Given the description of an element on the screen output the (x, y) to click on. 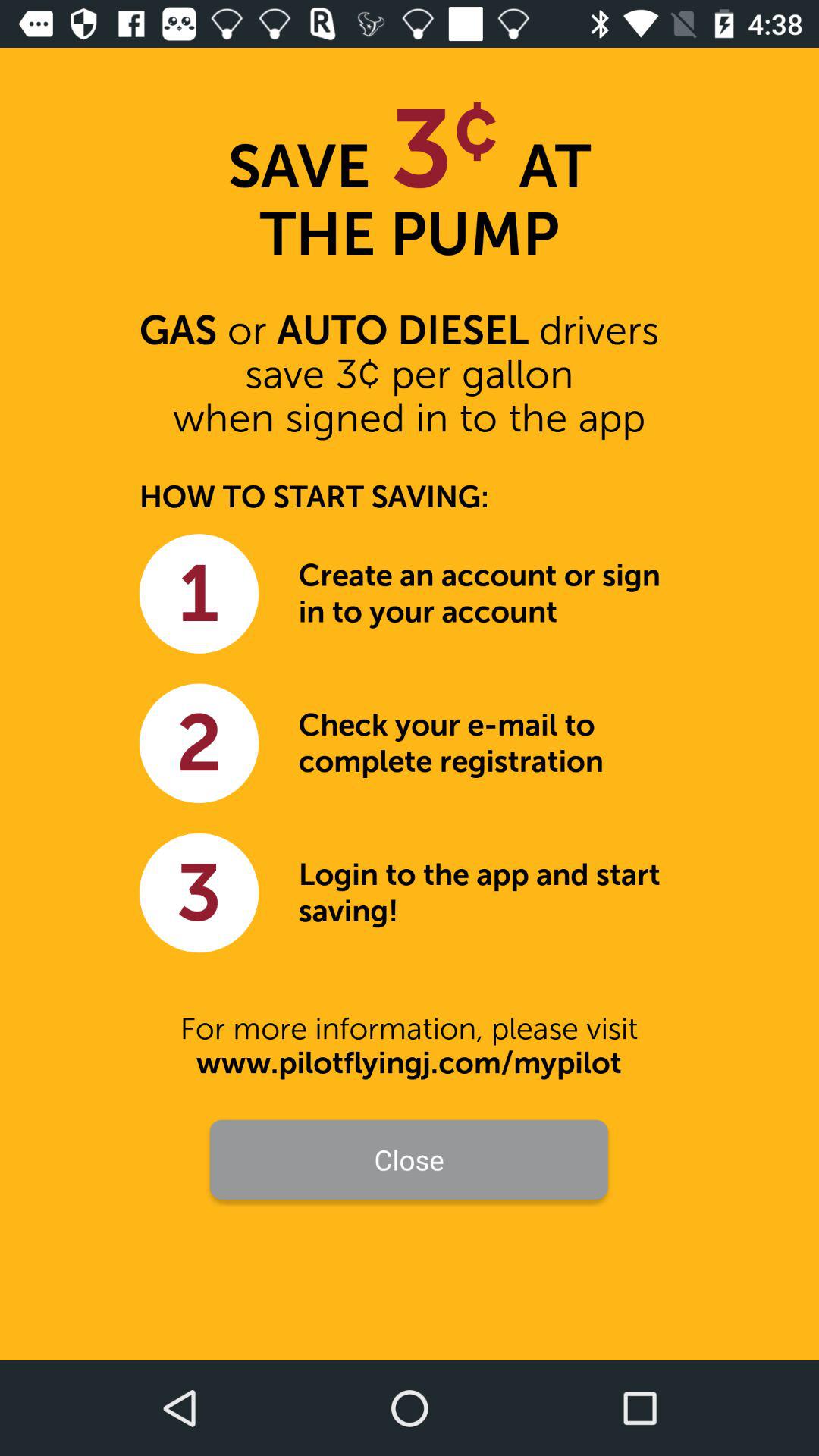
tap the item below the for more information item (409, 1062)
